Given the description of an element on the screen output the (x, y) to click on. 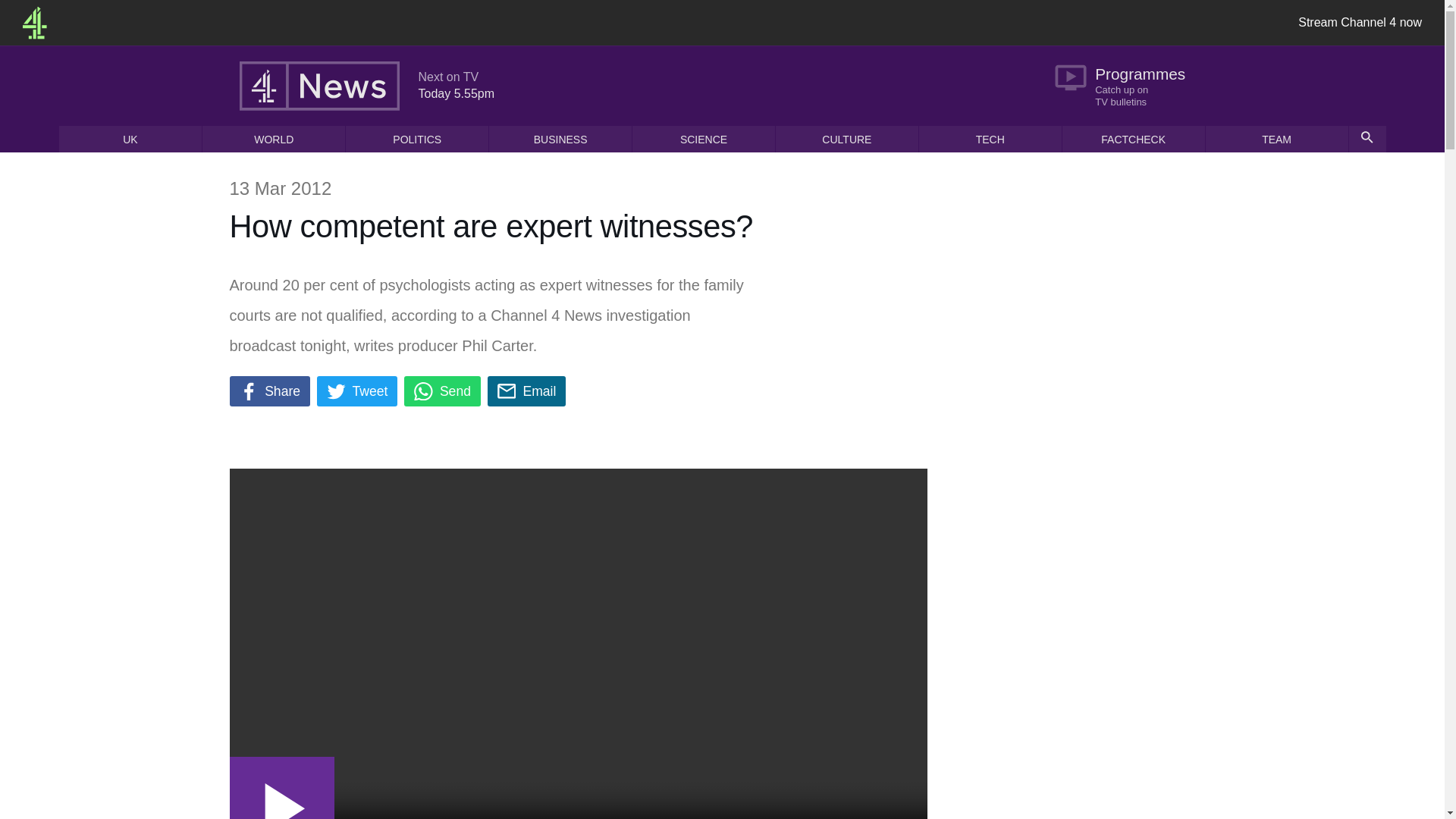
Stream Channel 4 now (1359, 22)
POLITICS (416, 139)
Tweet (357, 390)
SCIENCE (702, 139)
Send (442, 390)
BUSINESS (560, 139)
Share (269, 390)
CULTURE (847, 139)
Play Video (280, 787)
World news (273, 139)
FACTCHECK (1133, 139)
Play Video (280, 787)
News team (1276, 139)
Politics news (416, 139)
Tech news (989, 139)
